Given the description of an element on the screen output the (x, y) to click on. 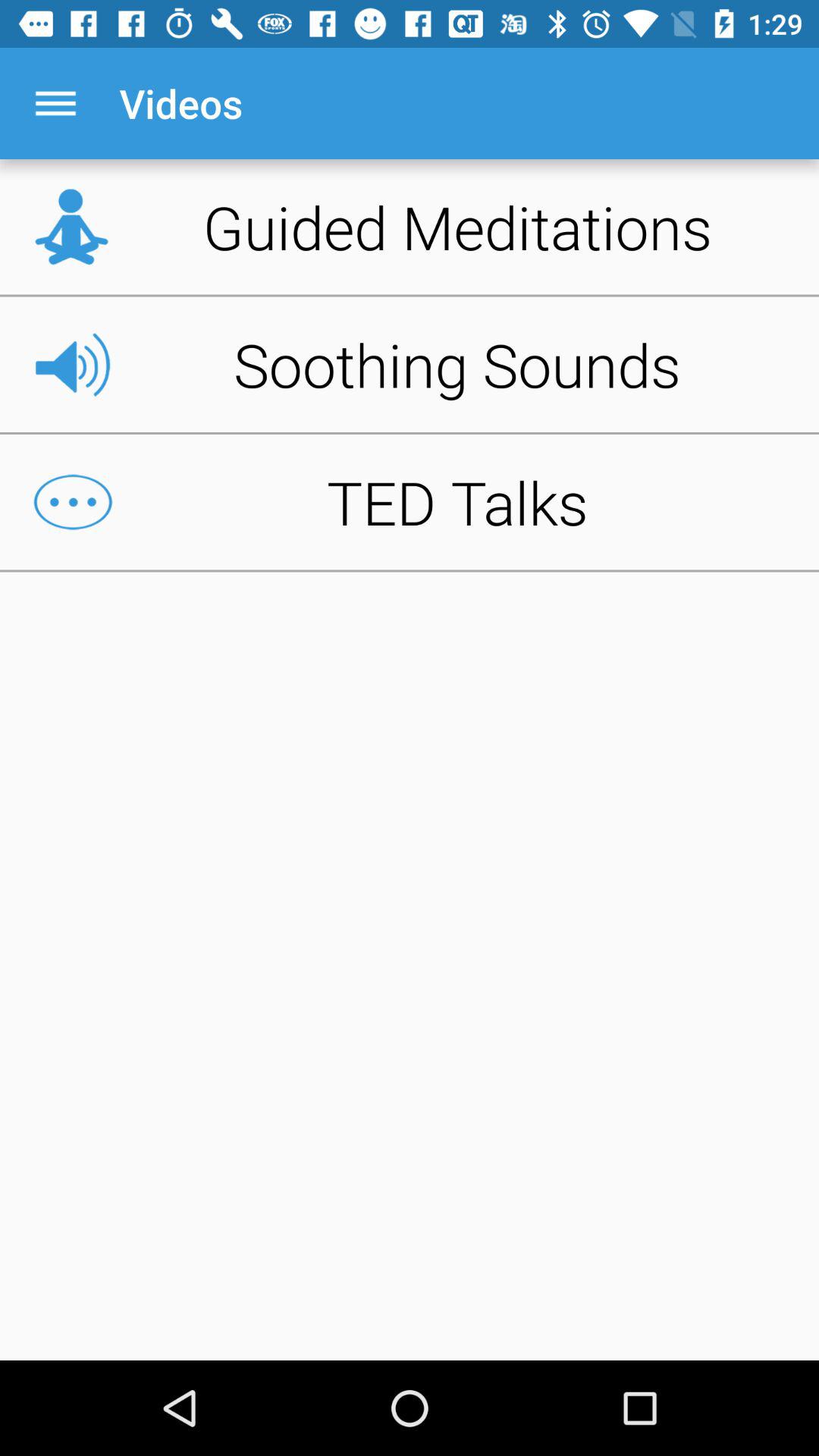
scroll until soothing sounds button (409, 364)
